Given the description of an element on the screen output the (x, y) to click on. 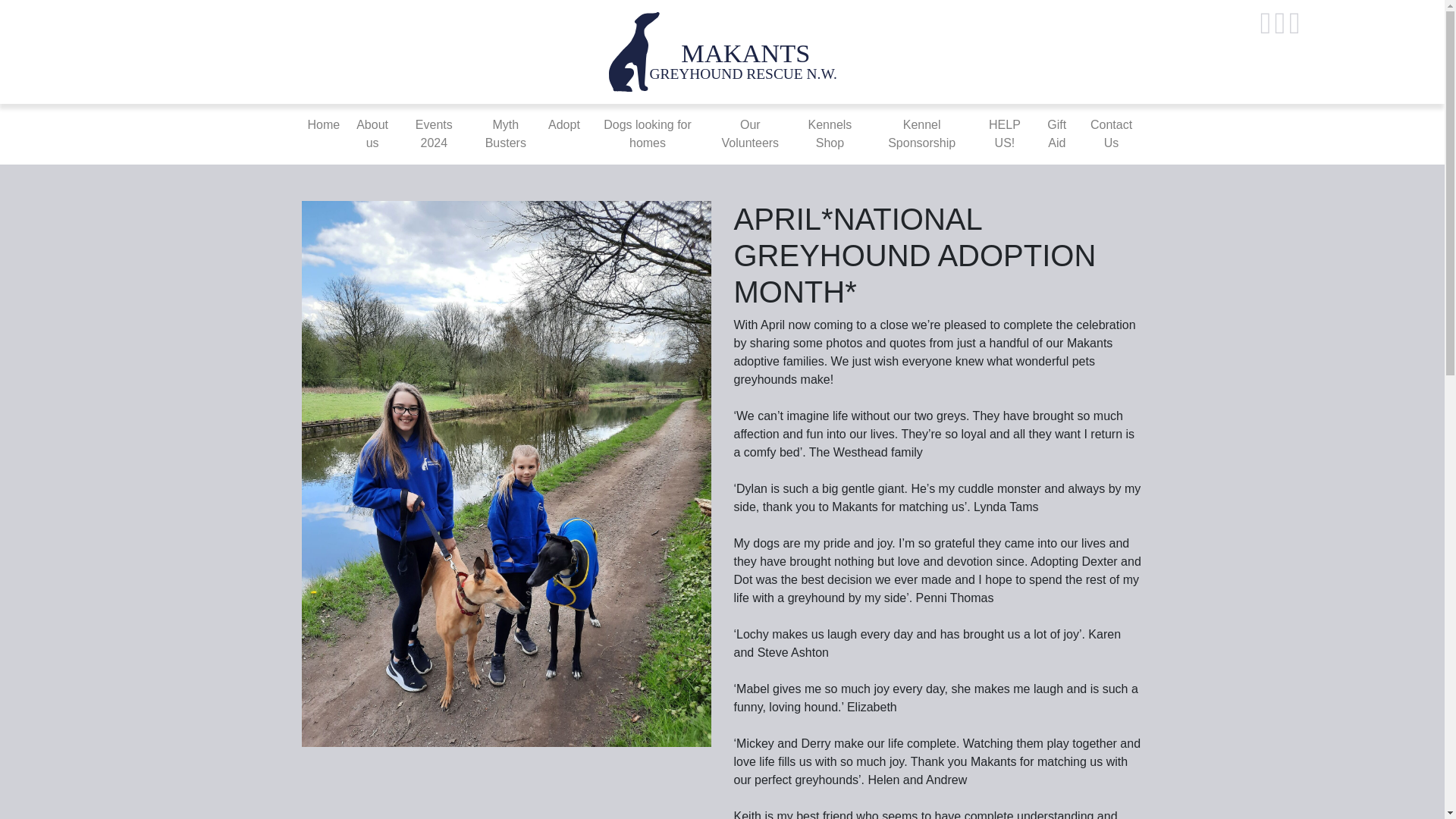
Myth Busters (504, 133)
Gift Aid (1056, 133)
Events 2024 (433, 133)
Myth Busters (504, 133)
HELP US! (1004, 133)
Contact Us (1111, 133)
About us (372, 133)
Makants Greyhound Rescue N.W (721, 51)
Home (323, 124)
Gift Aid (1056, 133)
